Given the description of an element on the screen output the (x, y) to click on. 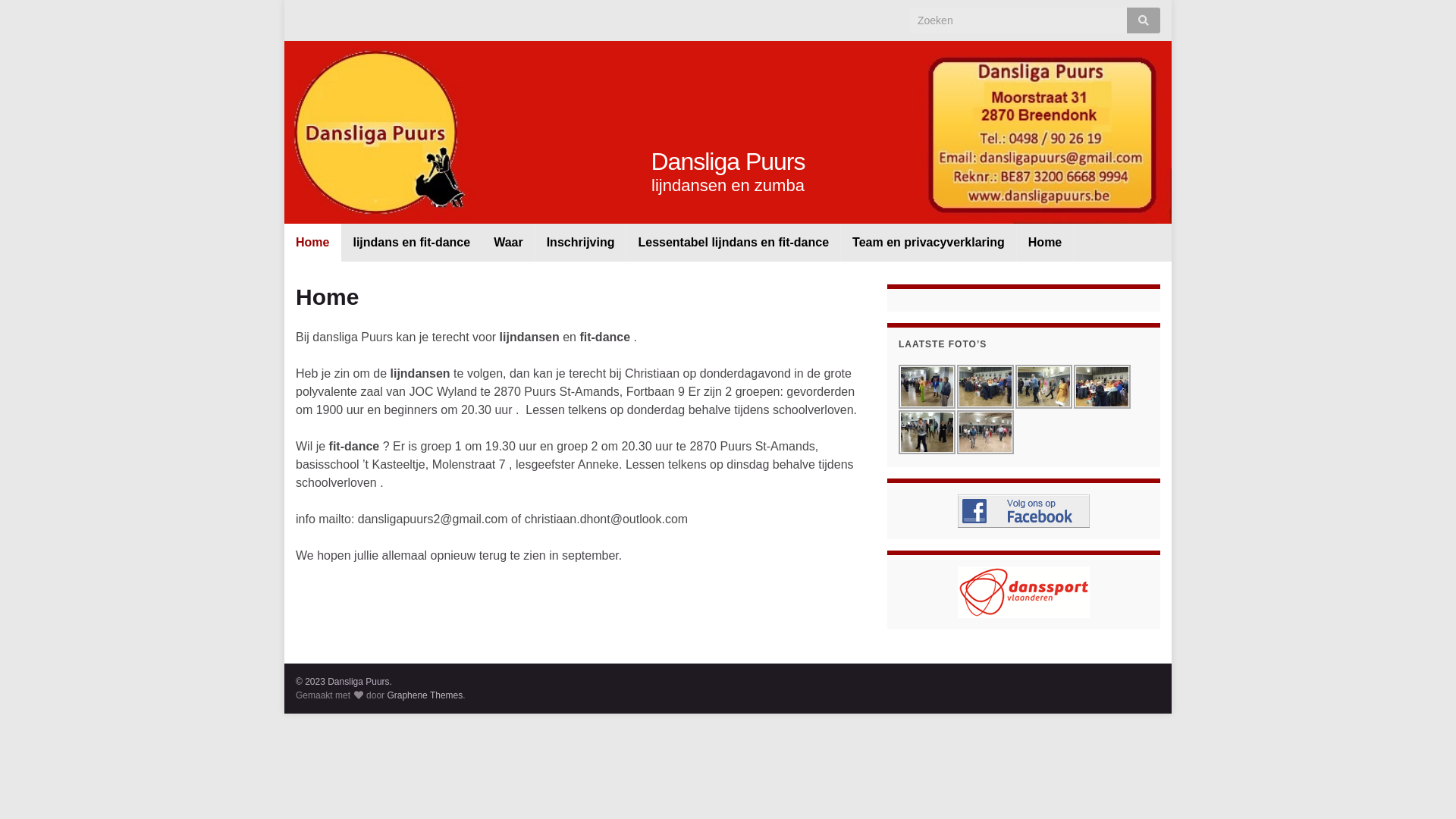
Lessentabel lijndans en fit-dance Element type: text (733, 242)
lijndans en fit-dance Element type: text (411, 242)
Inschrijving Element type: text (580, 242)
photo_2022-10-08_13-13-44 Element type: hover (985, 432)
dansliga_puurs_hoofding_2022 Element type: hover (727, 131)
Home Element type: text (312, 242)
Waar Element type: text (508, 242)
Home Element type: text (1044, 242)
photo_2022-11-28_08-40-42 Element type: hover (926, 432)
photo_2022-11-28_08-40-31 Element type: hover (1101, 386)
Graphene Themes Element type: text (424, 695)
photo_2022-11-28_08-40-55 Element type: hover (1043, 386)
Team en privacyverklaring Element type: text (928, 242)
photo_2022-11-28_08-41-03 Element type: hover (985, 386)
photo_2022-11-28_08-40-48 Element type: hover (926, 386)
